Given the description of an element on the screen output the (x, y) to click on. 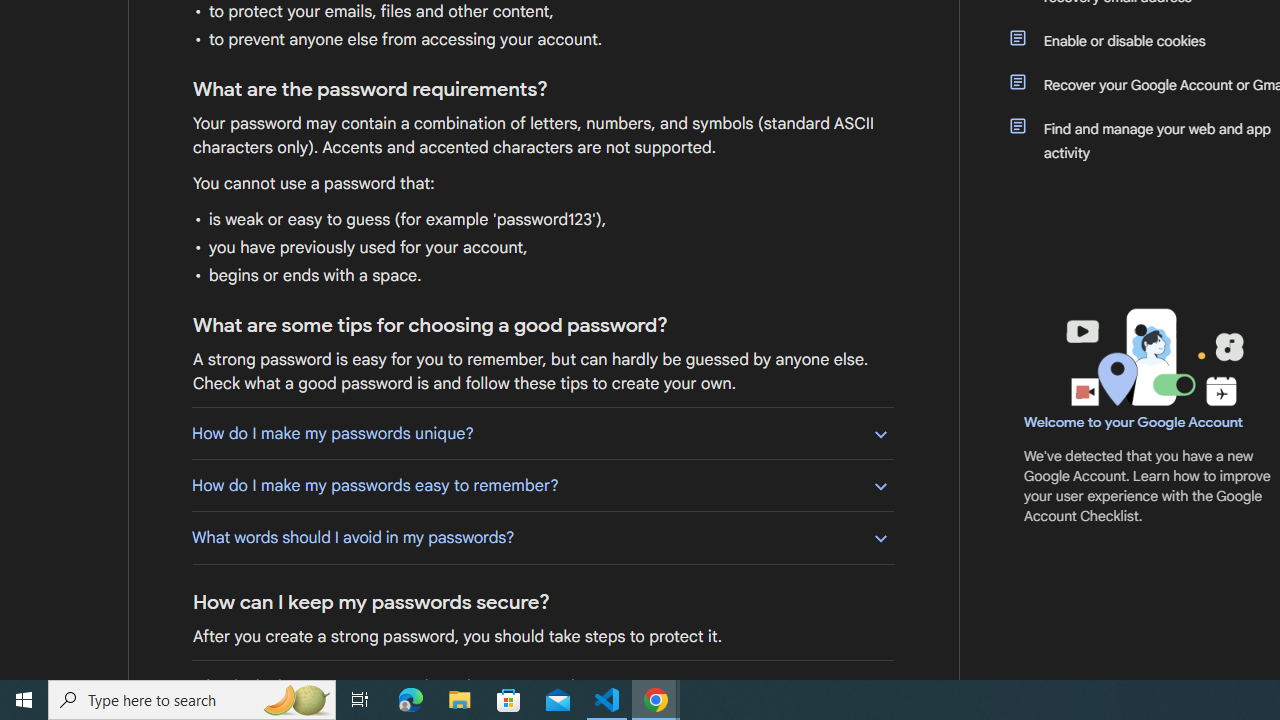
Welcome to your Google Account (1134, 422)
How do I make my passwords unique? (542, 433)
How do I make my passwords easy to remember? (542, 485)
Learning Center home page image (1152, 357)
What is the best way to store written down passwords? (542, 686)
What words should I avoid in my passwords? (542, 537)
